Given the description of an element on the screen output the (x, y) to click on. 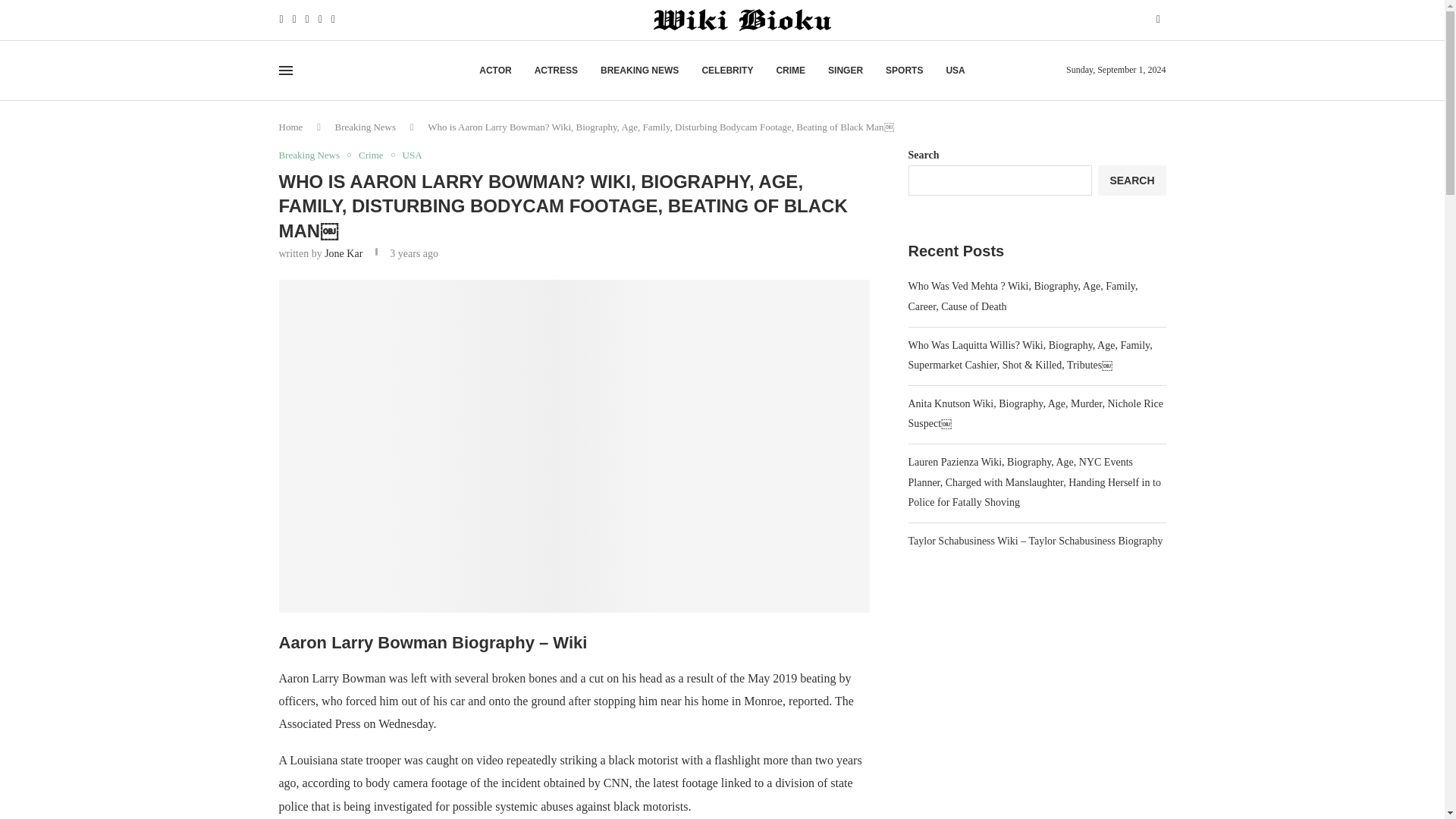
CELEBRITY (726, 70)
ACTRESS (556, 70)
BREAKING NEWS (638, 70)
